Given the description of an element on the screen output the (x, y) to click on. 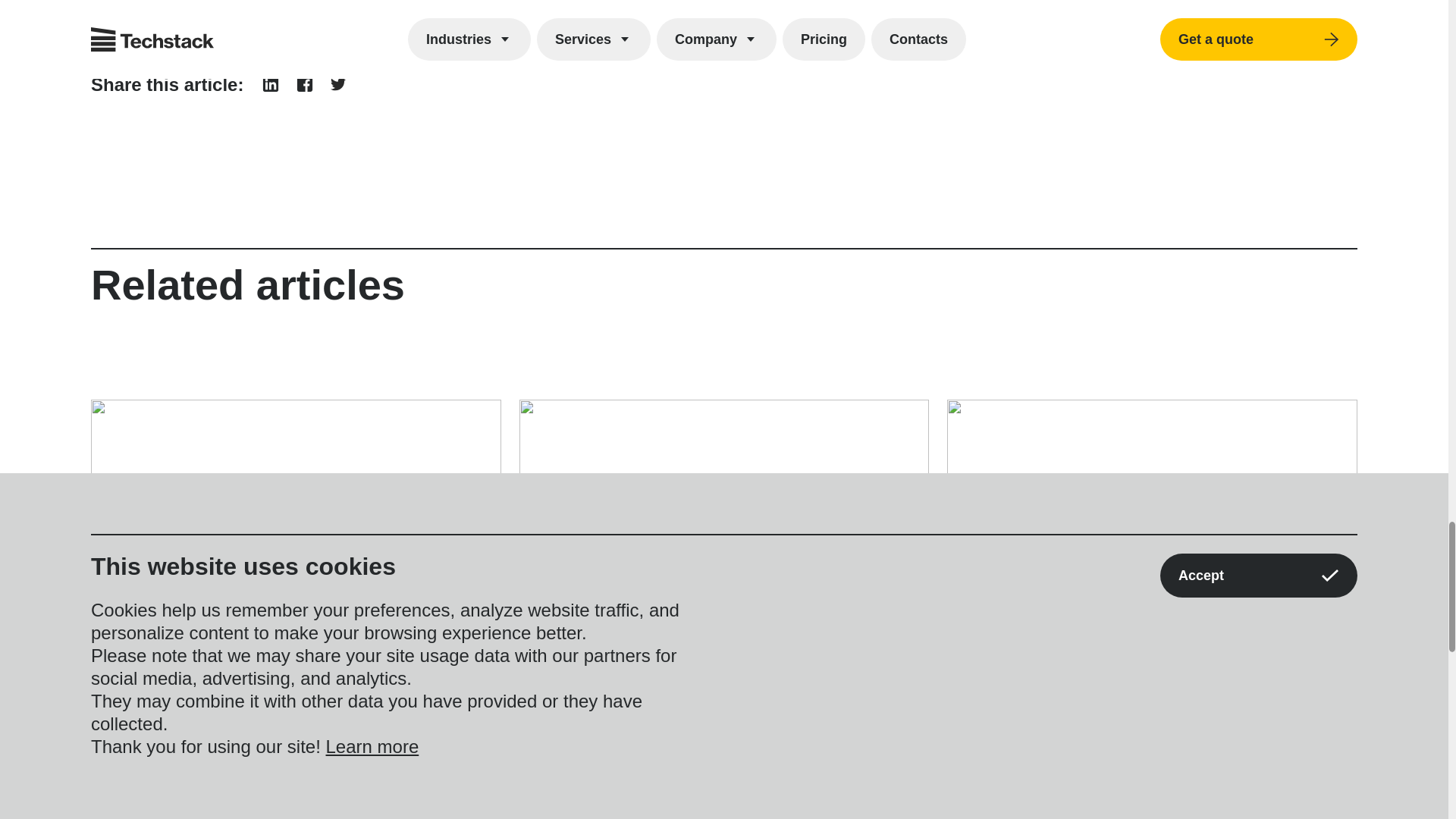
Software Development (611, 674)
Software Development (182, 674)
